Given the description of an element on the screen output the (x, y) to click on. 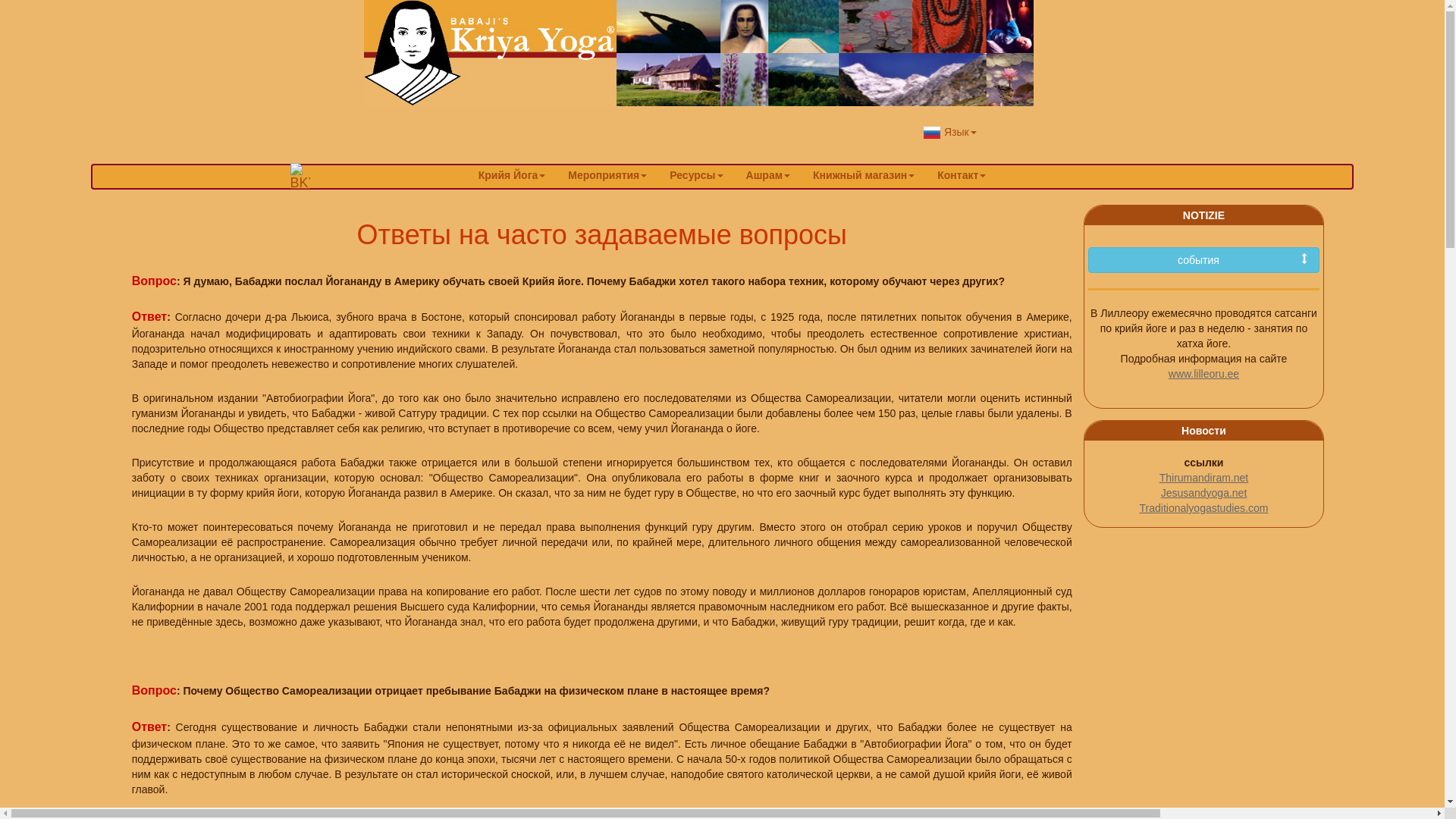
www.lilleoru.ee Element type: text (1203, 373)
Home Element type: hover (698, 53)
Thirumandiram.net Element type: text (1203, 477)
Traditionalyogastudies.com Element type: text (1203, 508)
Home Element type: hover (299, 176)
Jesusandyoga.net Element type: text (1204, 492)
